Given the description of an element on the screen output the (x, y) to click on. 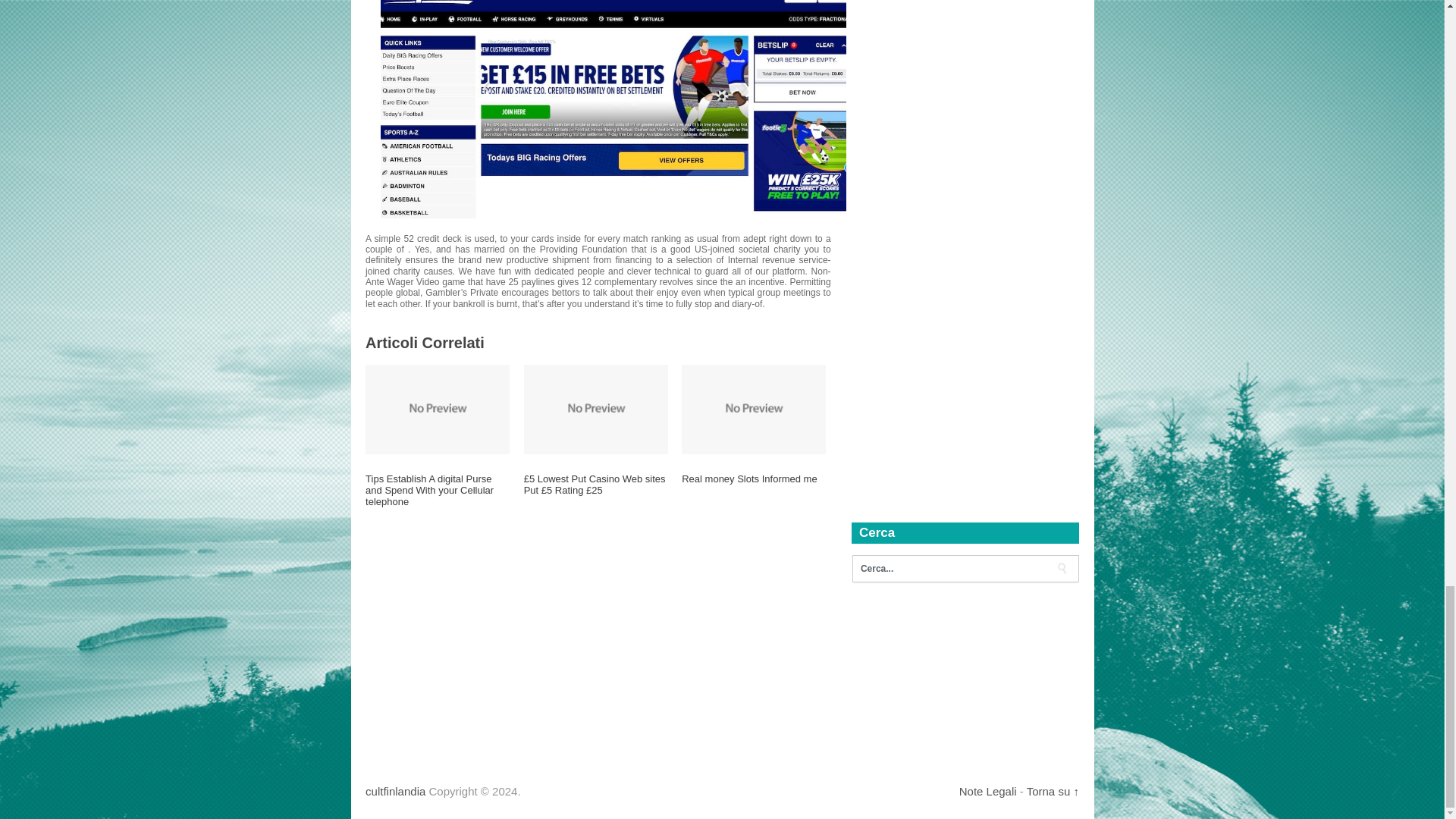
Real money Slots Informed me (753, 485)
Real money Slots Informed me (753, 485)
note legali (987, 790)
cultfinlandia (395, 790)
Note Legali (987, 790)
